Given the description of an element on the screen output the (x, y) to click on. 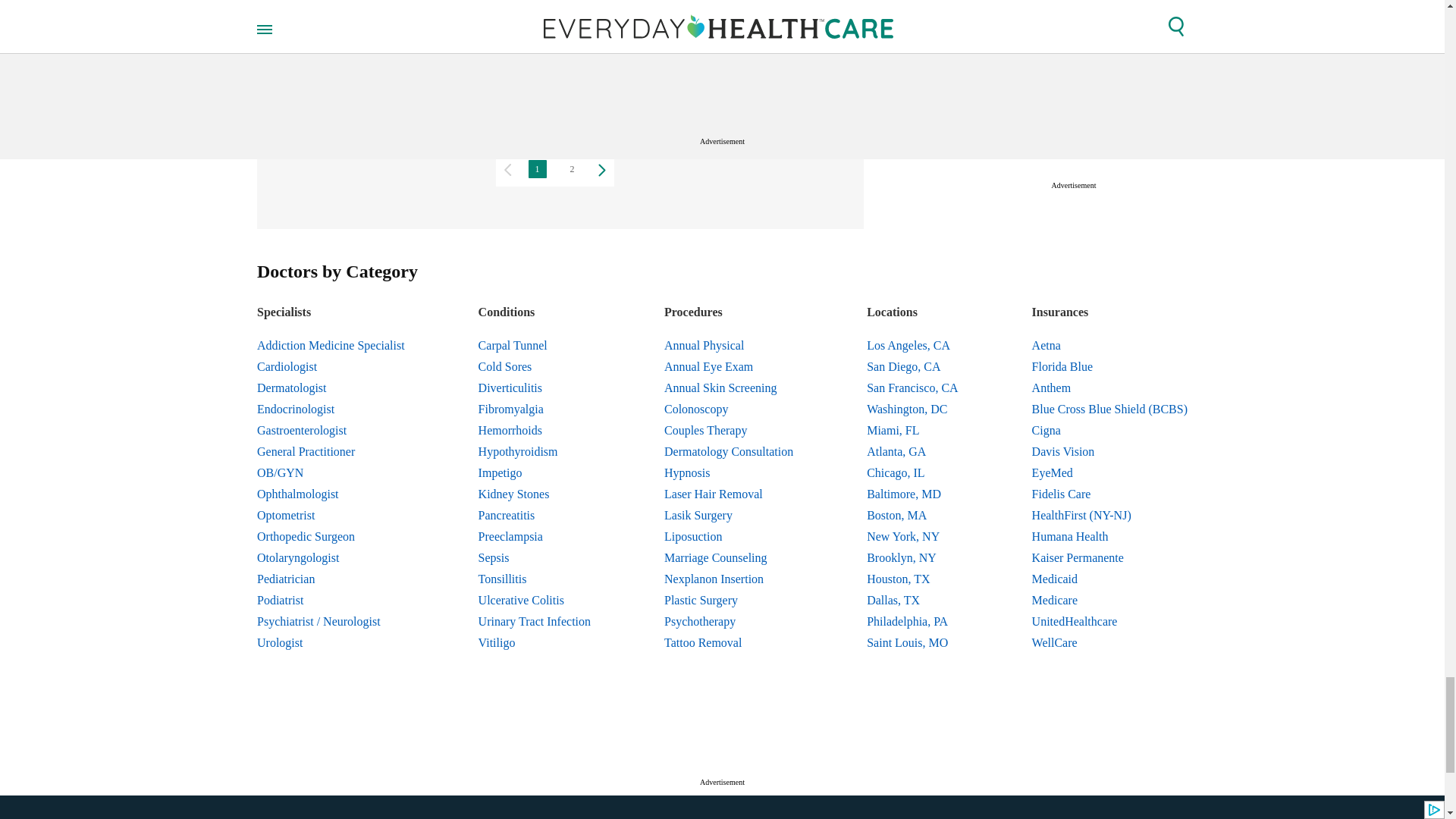
Dermatologist (330, 387)
Diverticulitis (535, 387)
Gastroenterologist (330, 430)
Cold Sores (535, 366)
2 (571, 168)
Cardiologist (330, 366)
Pediatrician (330, 578)
Optometrist (330, 515)
1 (536, 168)
Hemorrhoids (535, 430)
Addiction Medicine Specialist (330, 345)
General Practitioner (330, 451)
Fibromyalgia (535, 409)
Urologist (330, 642)
Ophthalmologist (330, 494)
